Given the description of an element on the screen output the (x, y) to click on. 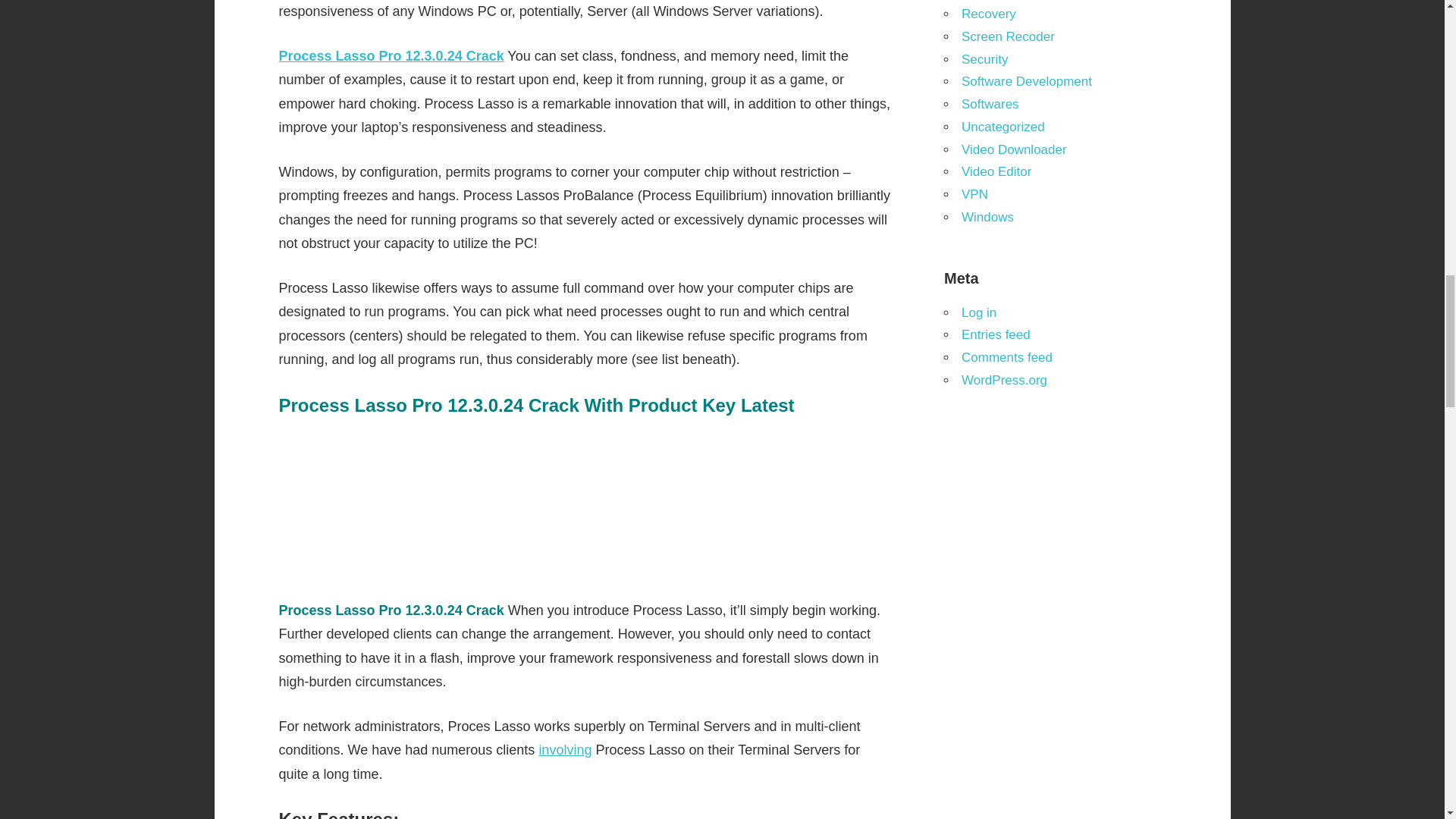
Process Lasso Pro 12.3.0.24 Crack (391, 55)
involving (564, 749)
